Given the description of an element on the screen output the (x, y) to click on. 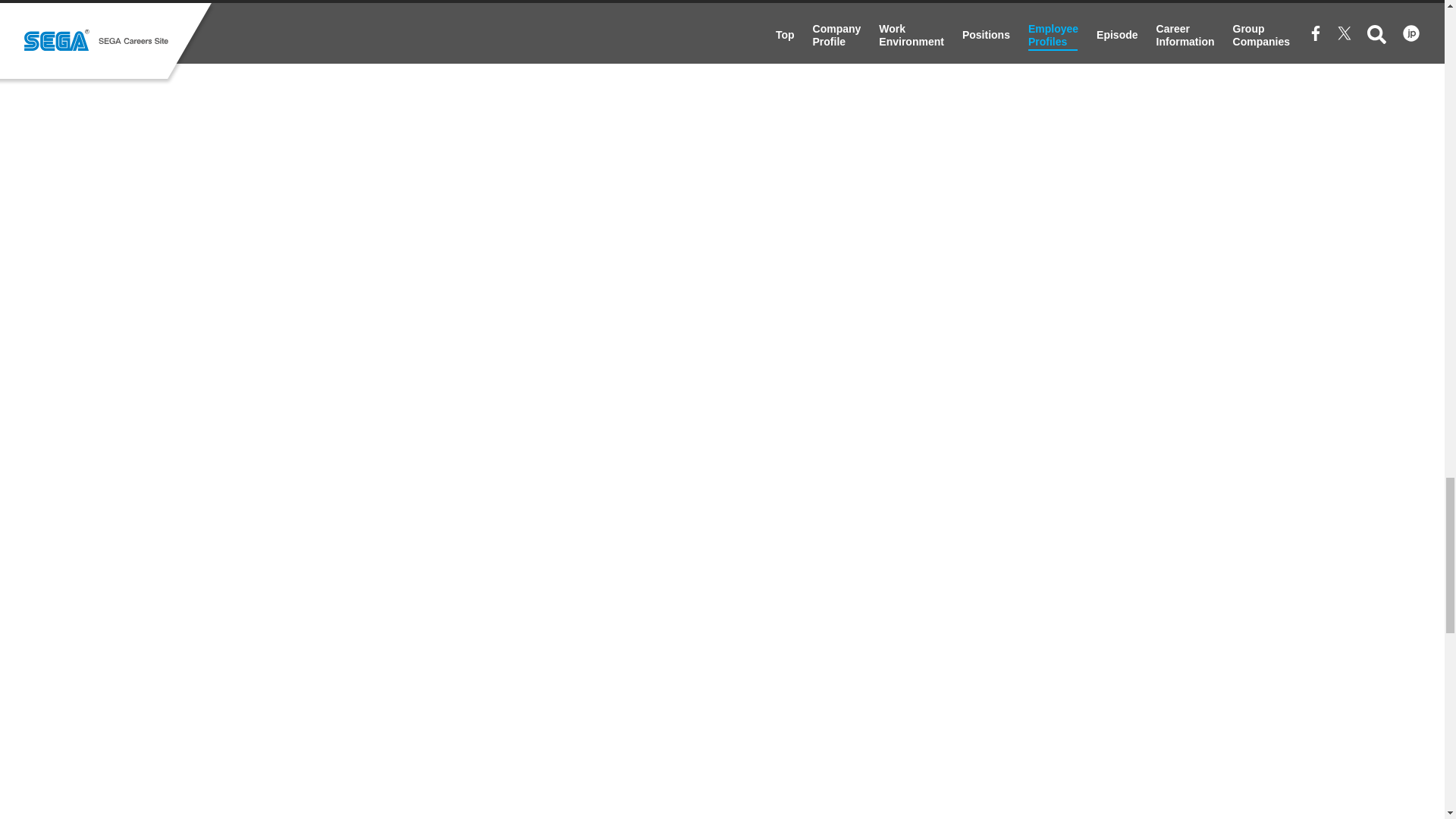
Regular Position (816, 298)
Game Designer (627, 495)
Programmer (1005, 495)
Programmer (437, 692)
Programmer (627, 692)
Regular Position (627, 298)
Regular Position (437, 298)
Game Designer (437, 495)
Game Designer (816, 495)
Regular Position (1005, 298)
